Given the description of an element on the screen output the (x, y) to click on. 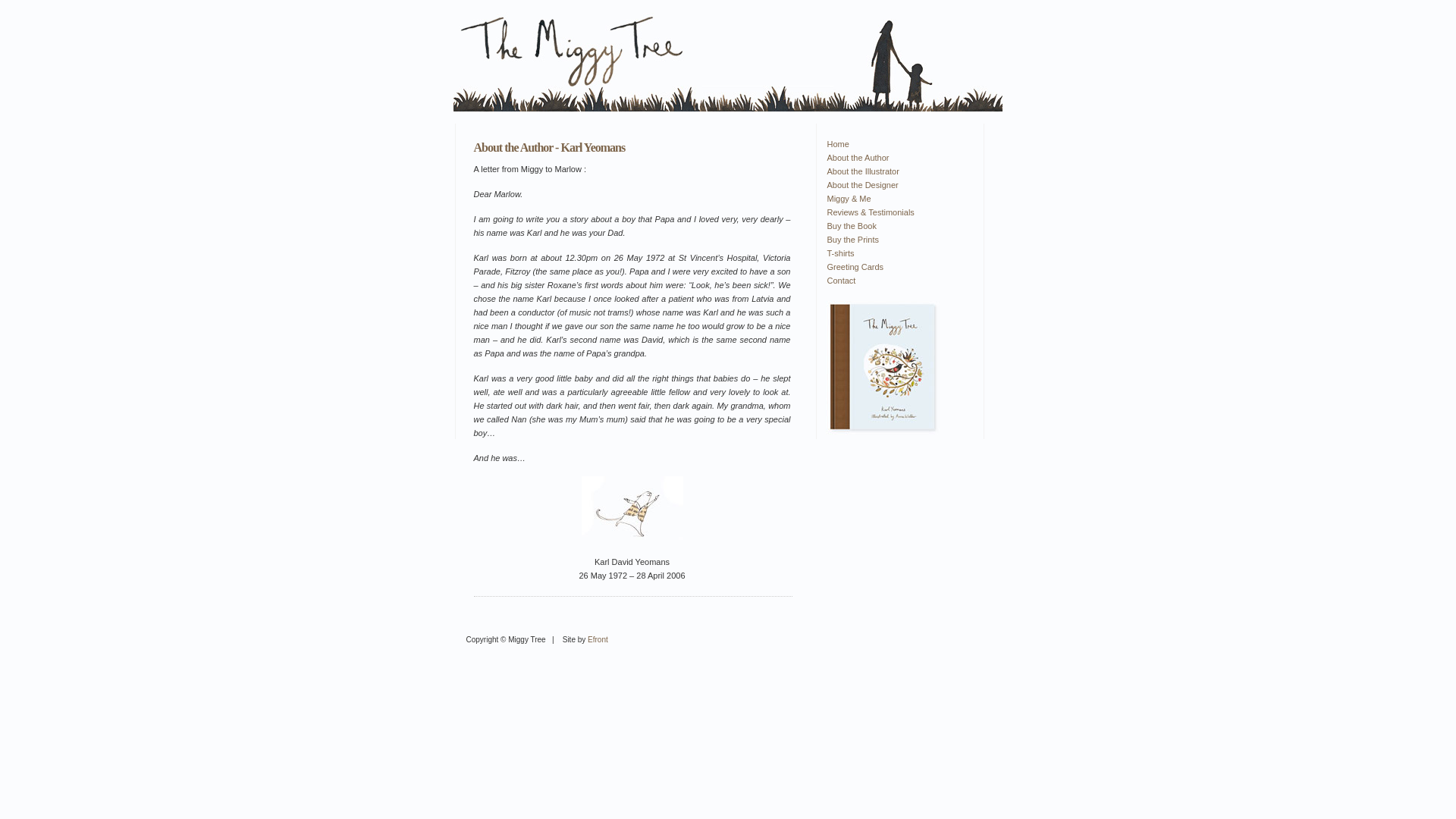
Buy the Prints Element type: text (895, 239)
About the Illustrator Element type: text (895, 171)
Home Element type: text (895, 143)
About the Author Element type: text (895, 157)
T-shirts Element type: text (895, 253)
The Miggy Tree Element type: hover (881, 368)
About the Designer Element type: text (895, 184)
Buy the Book Element type: text (895, 225)
Contact Element type: text (895, 280)
Efront Element type: text (597, 639)
Greeting Cards Element type: text (895, 266)
Miggy & Me Element type: text (895, 198)
Reviews & Testimonials Element type: text (895, 212)
